Given the description of an element on the screen output the (x, y) to click on. 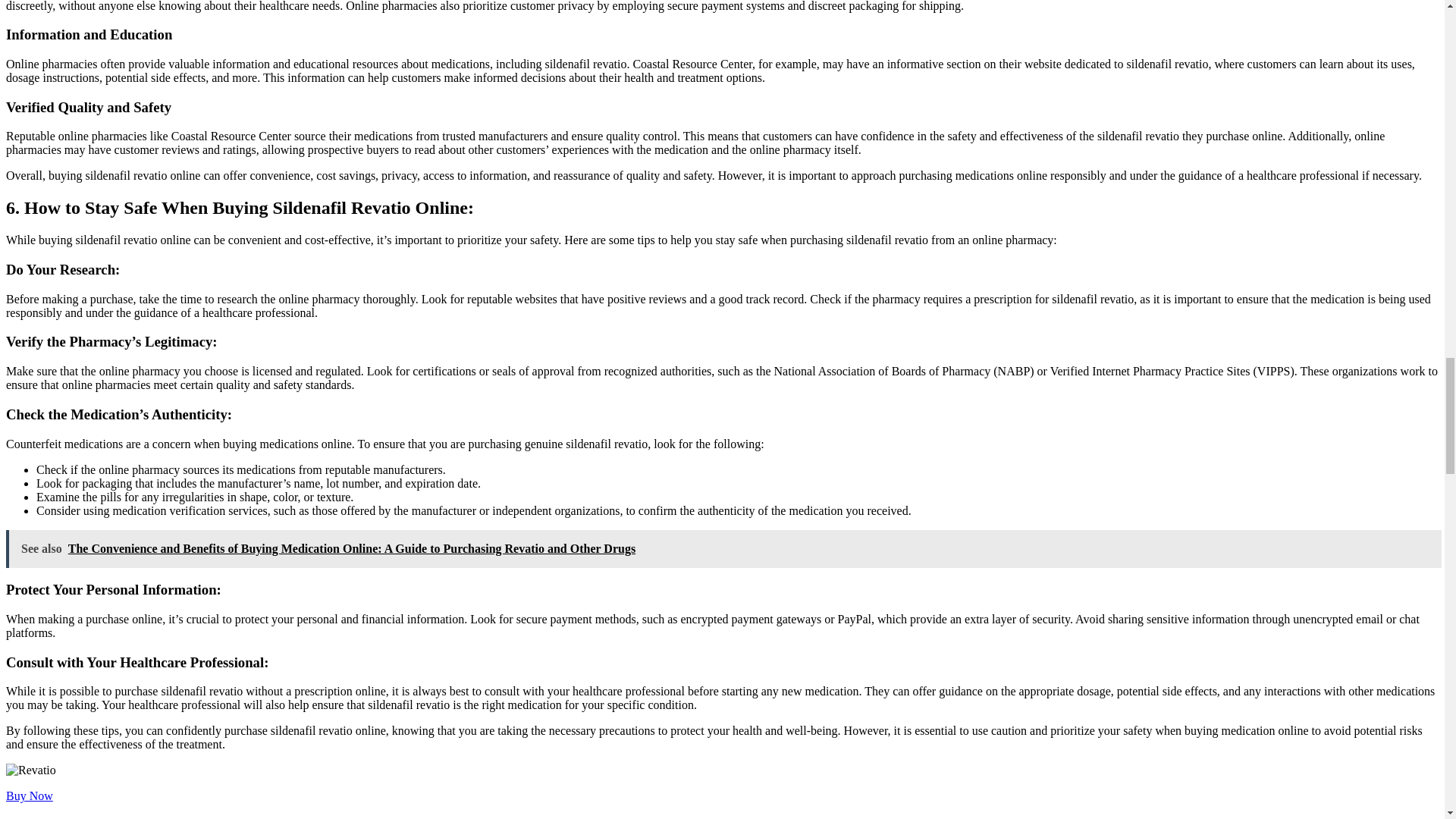
Buy Now (28, 795)
Buy Now (28, 795)
